Given the description of an element on the screen output the (x, y) to click on. 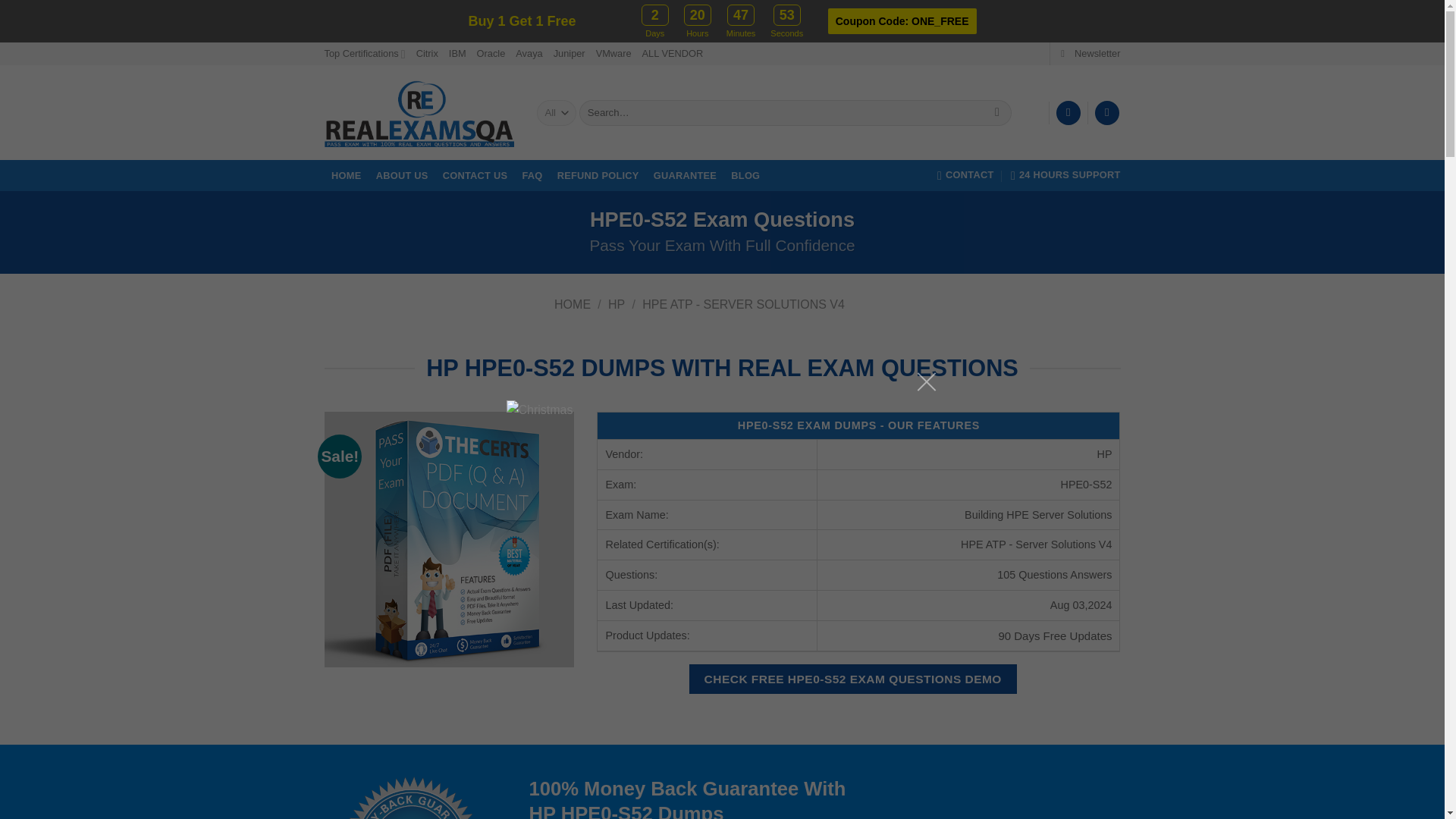
ALL VENDOR (672, 53)
Juniper (569, 53)
Avaya (528, 53)
Newsletter (1090, 53)
Top Certifications (365, 53)
RealExamsQA (418, 113)
Oracle (491, 53)
VMware (613, 53)
Citrix (427, 53)
Cart (1106, 113)
